Given the description of an element on the screen output the (x, y) to click on. 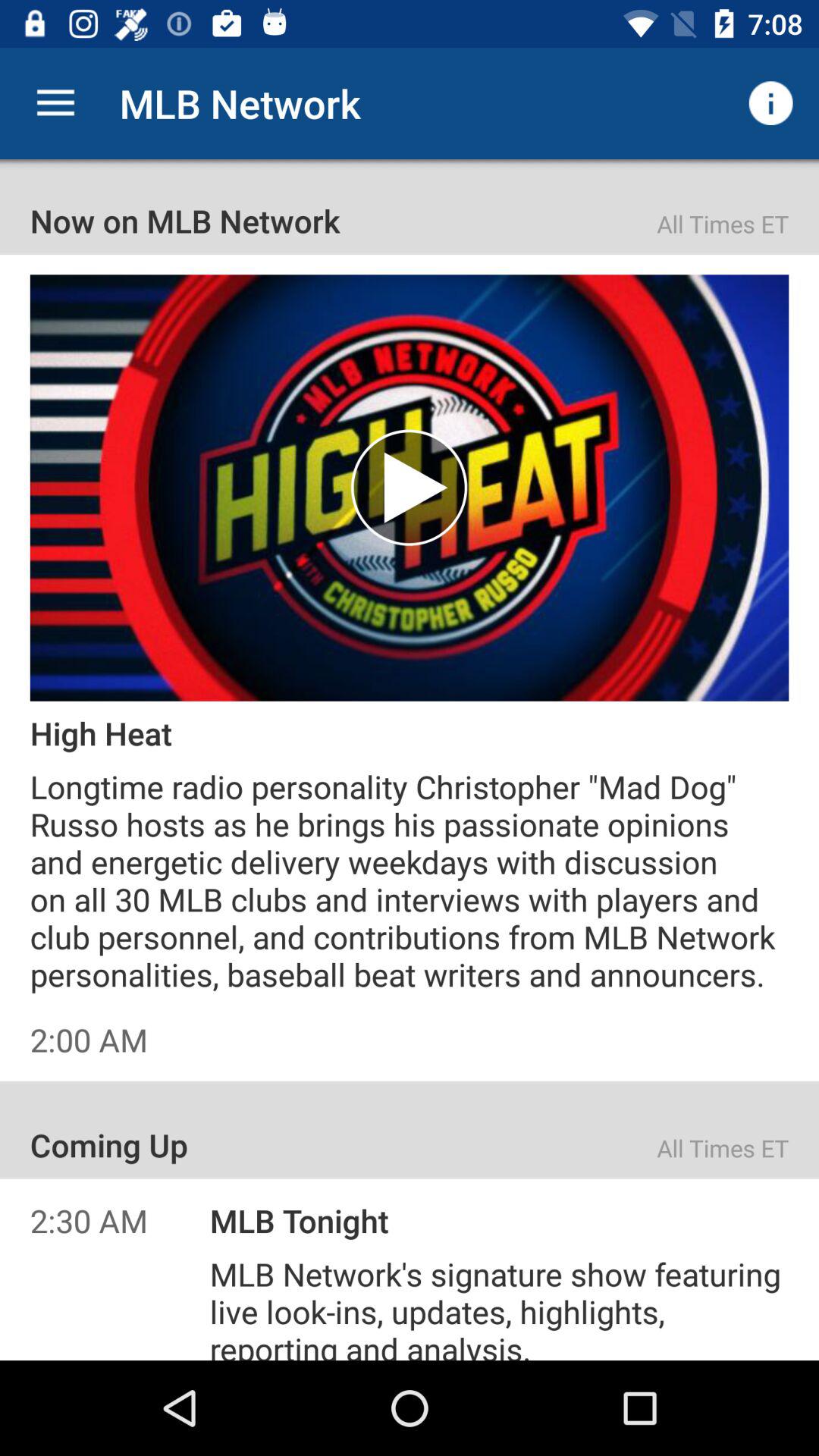
turn on the item to the right of mlb network icon (771, 103)
